Given the description of an element on the screen output the (x, y) to click on. 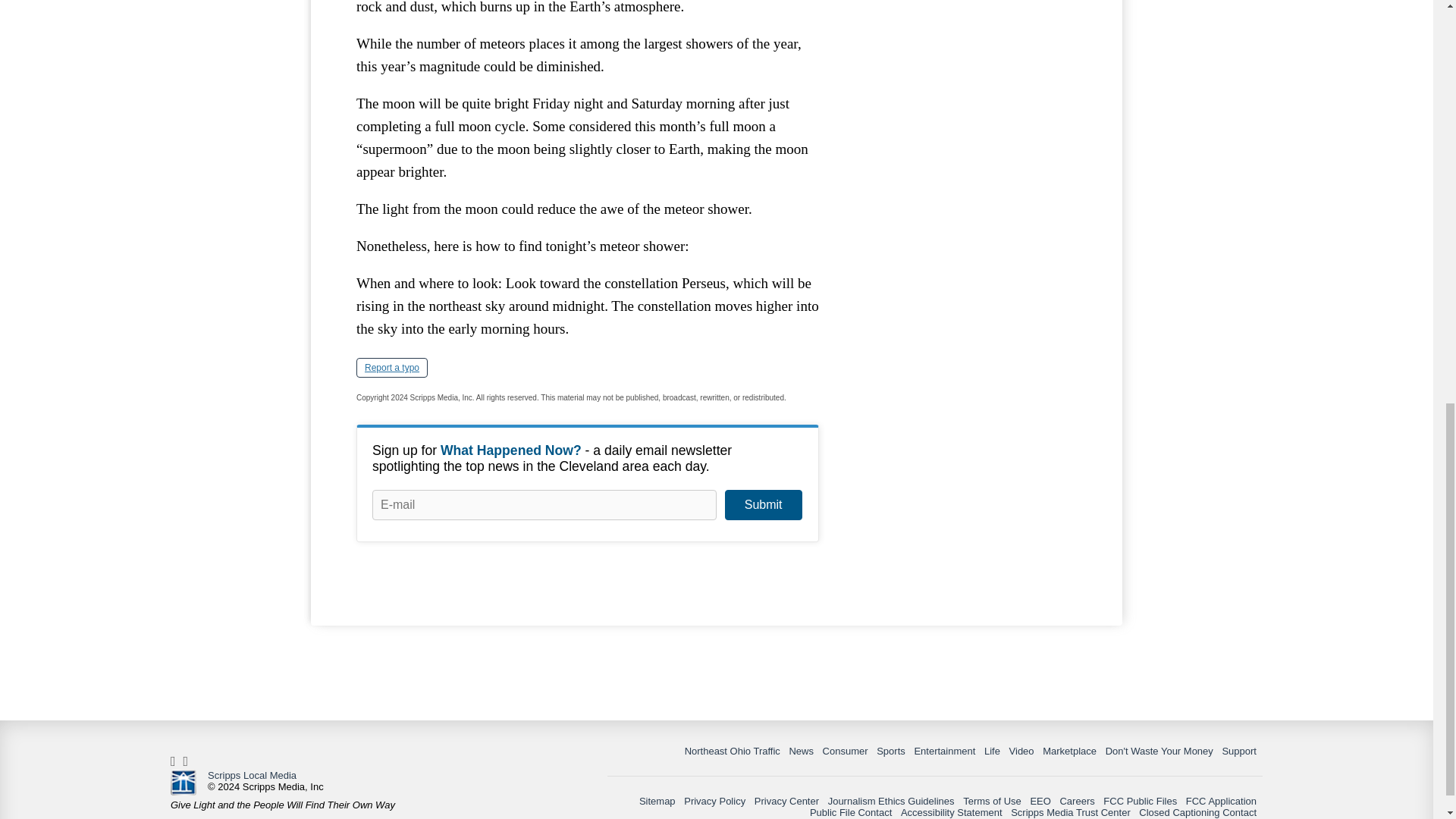
Submit (763, 504)
